Given the description of an element on the screen output the (x, y) to click on. 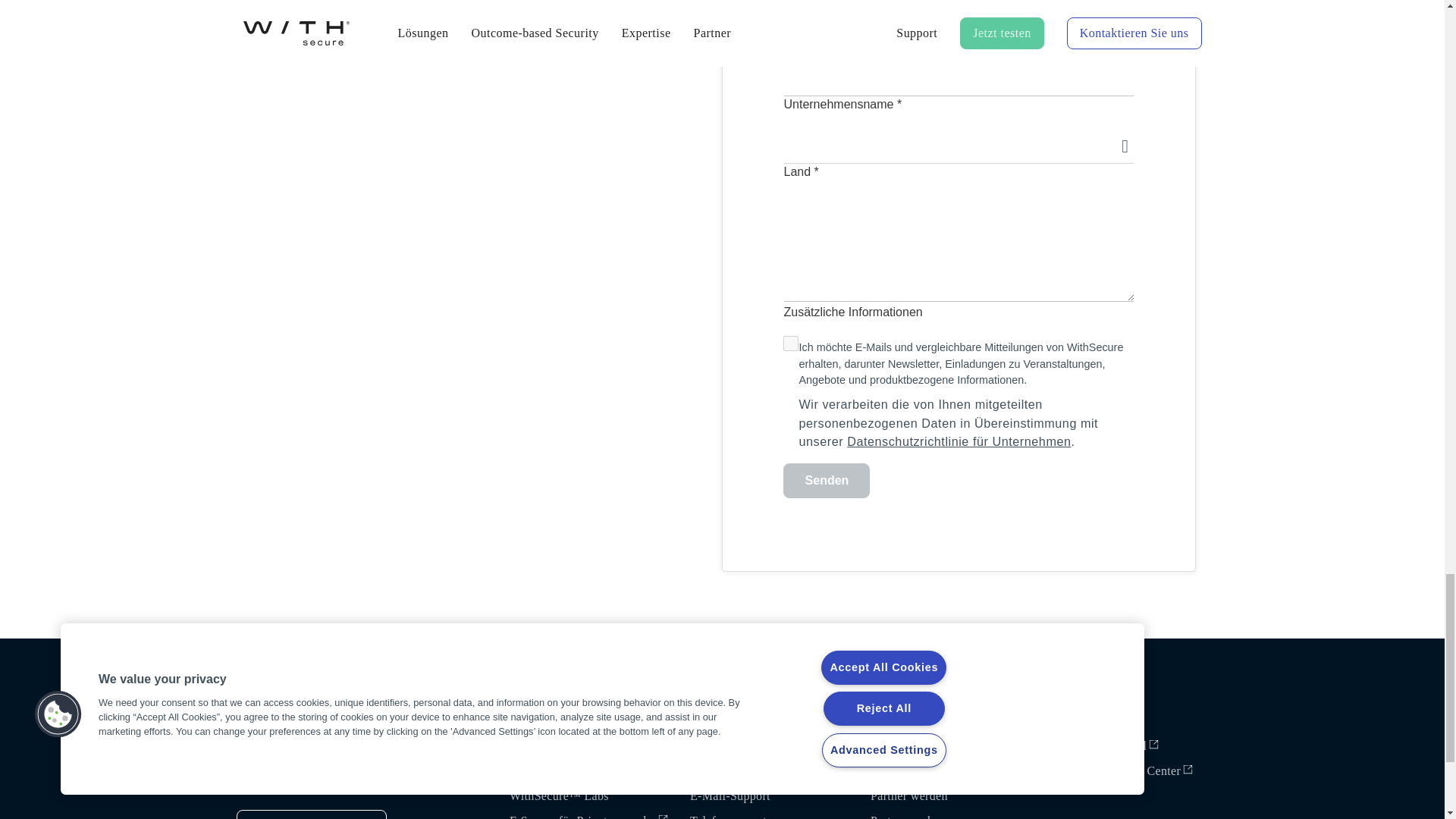
true (790, 343)
